Given the description of an element on the screen output the (x, y) to click on. 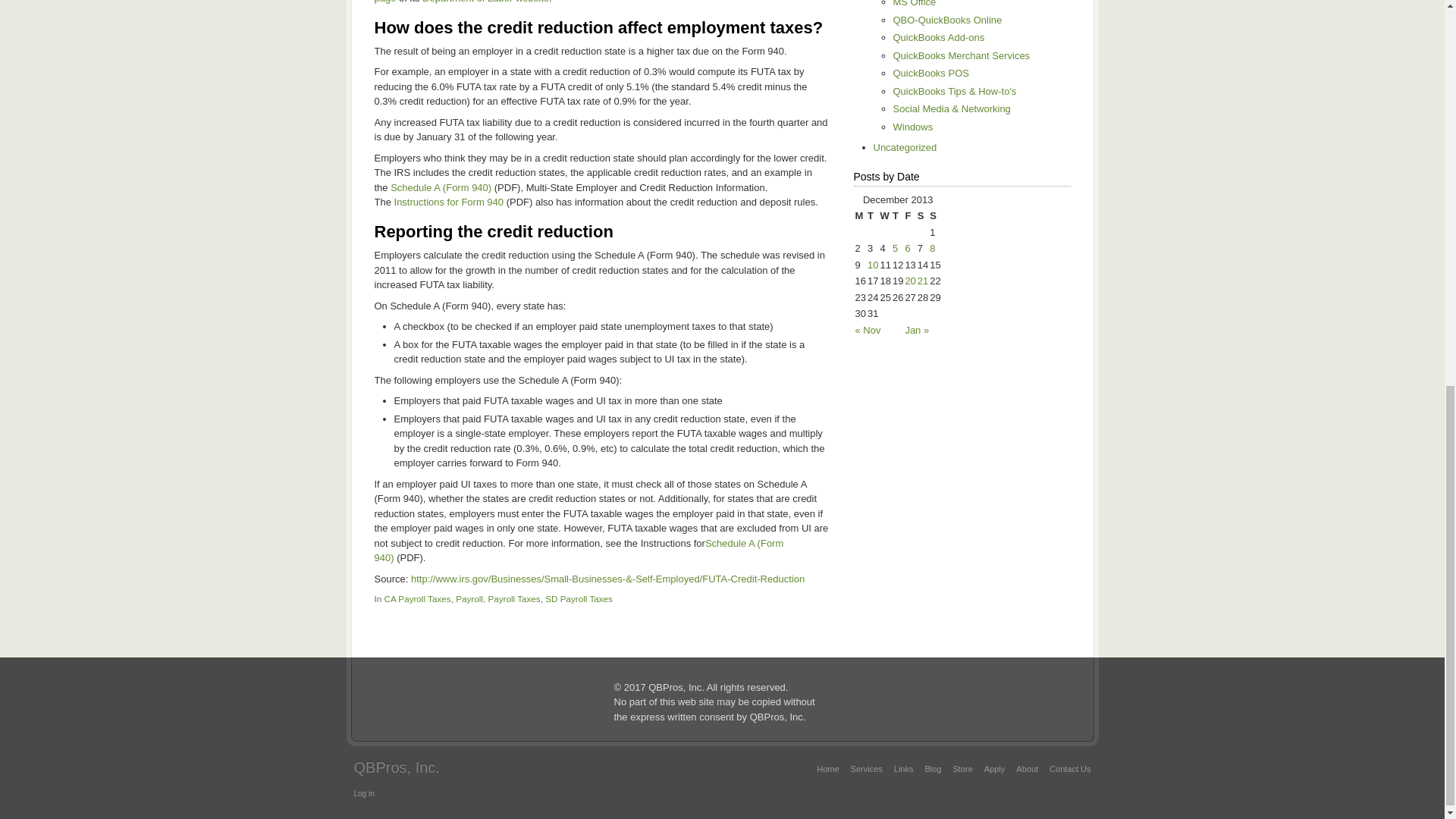
Payroll Taxes (513, 598)
Payroll (469, 598)
SD Payroll Taxes (578, 598)
Instructions for Form 940 (448, 202)
CA Payroll Taxes (416, 598)
Department of Labor website (485, 2)
